Given the description of an element on the screen output the (x, y) to click on. 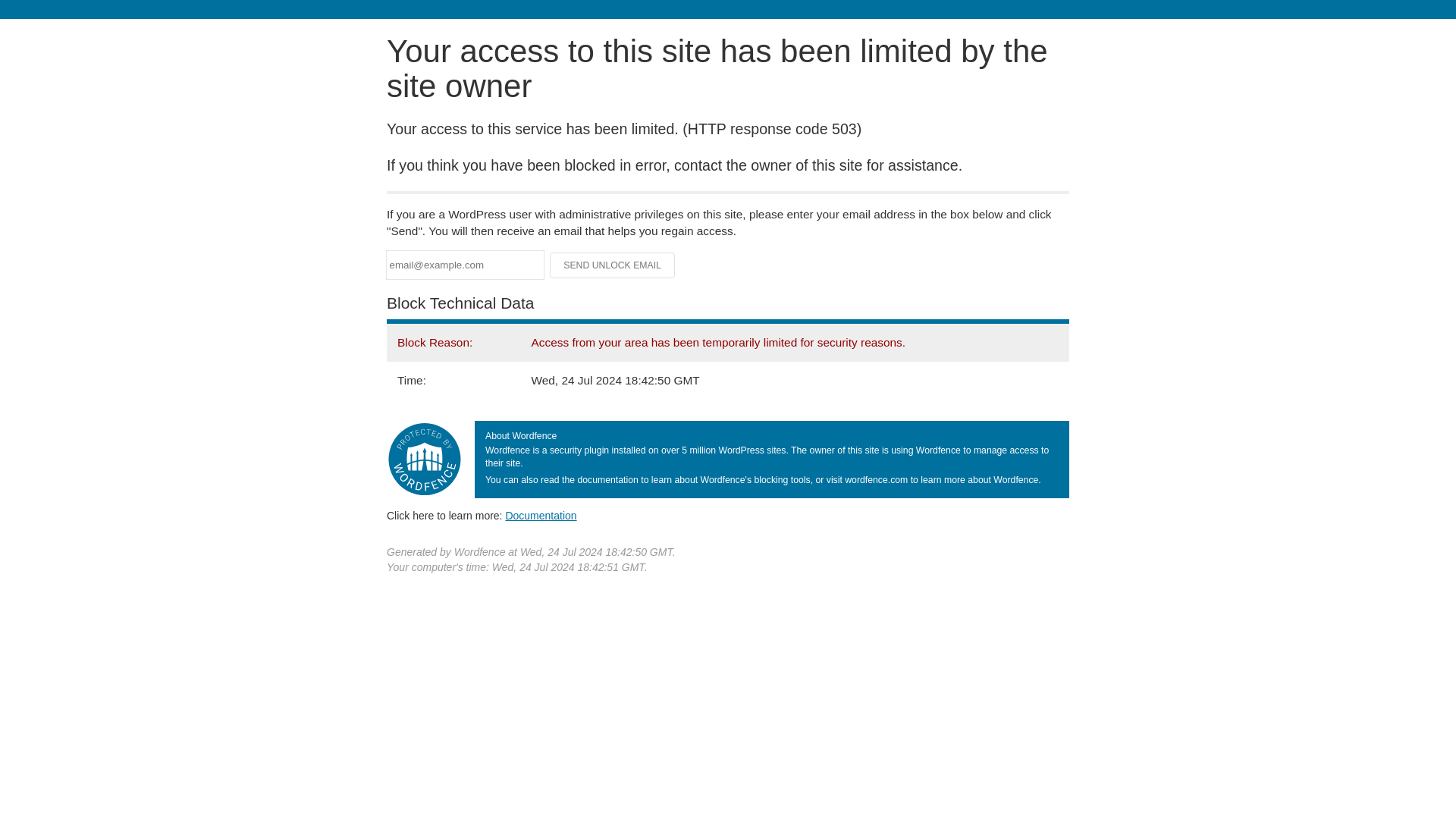
Send Unlock Email (612, 265)
Documentation (540, 515)
Send Unlock Email (612, 265)
